Given the description of an element on the screen output the (x, y) to click on. 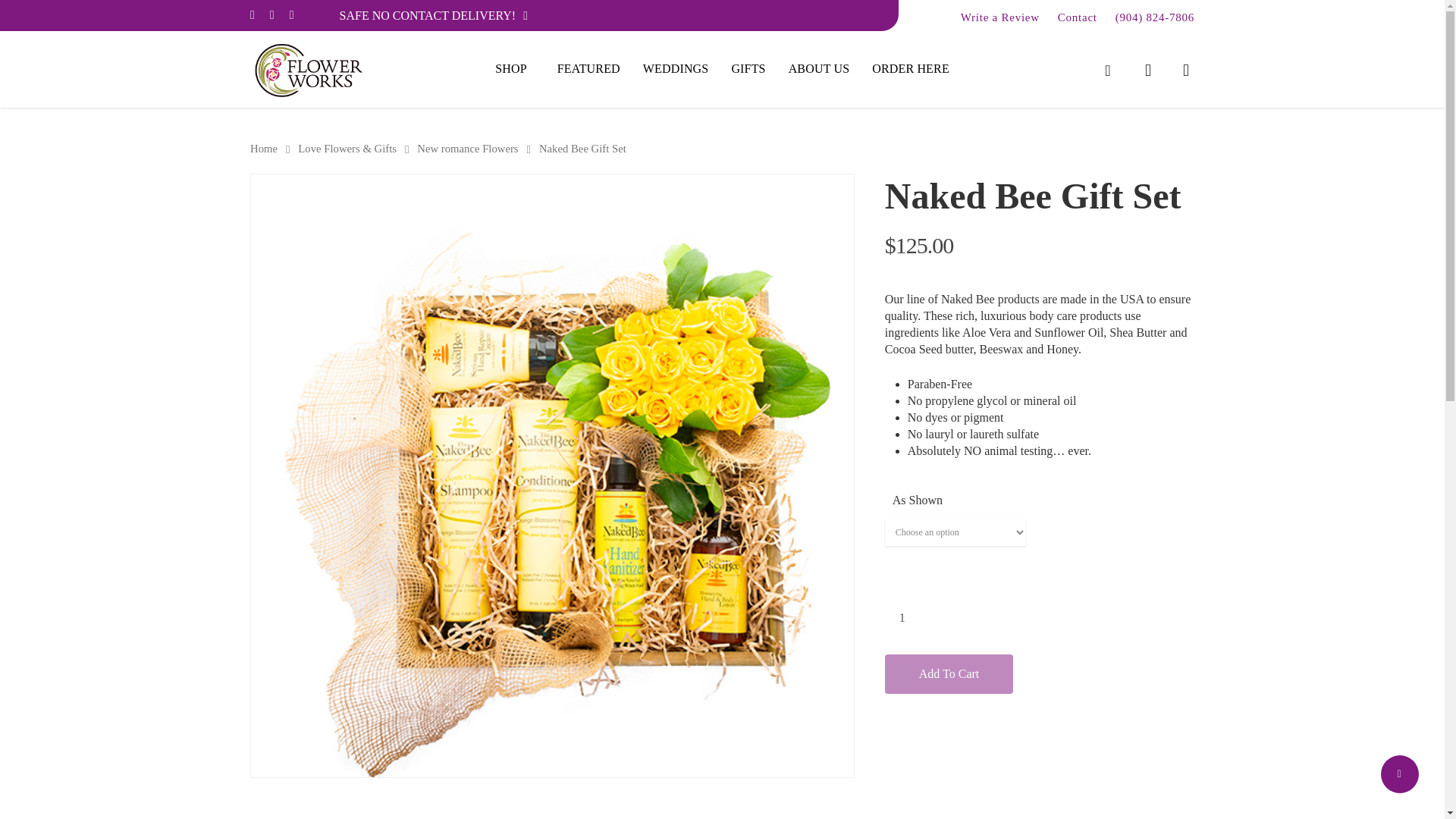
Qty (902, 618)
Write a Review (998, 15)
Contact (1075, 15)
SHOP (514, 68)
1 (902, 618)
SAFE NO CONTACT DELIVERY! (433, 15)
